Given the description of an element on the screen output the (x, y) to click on. 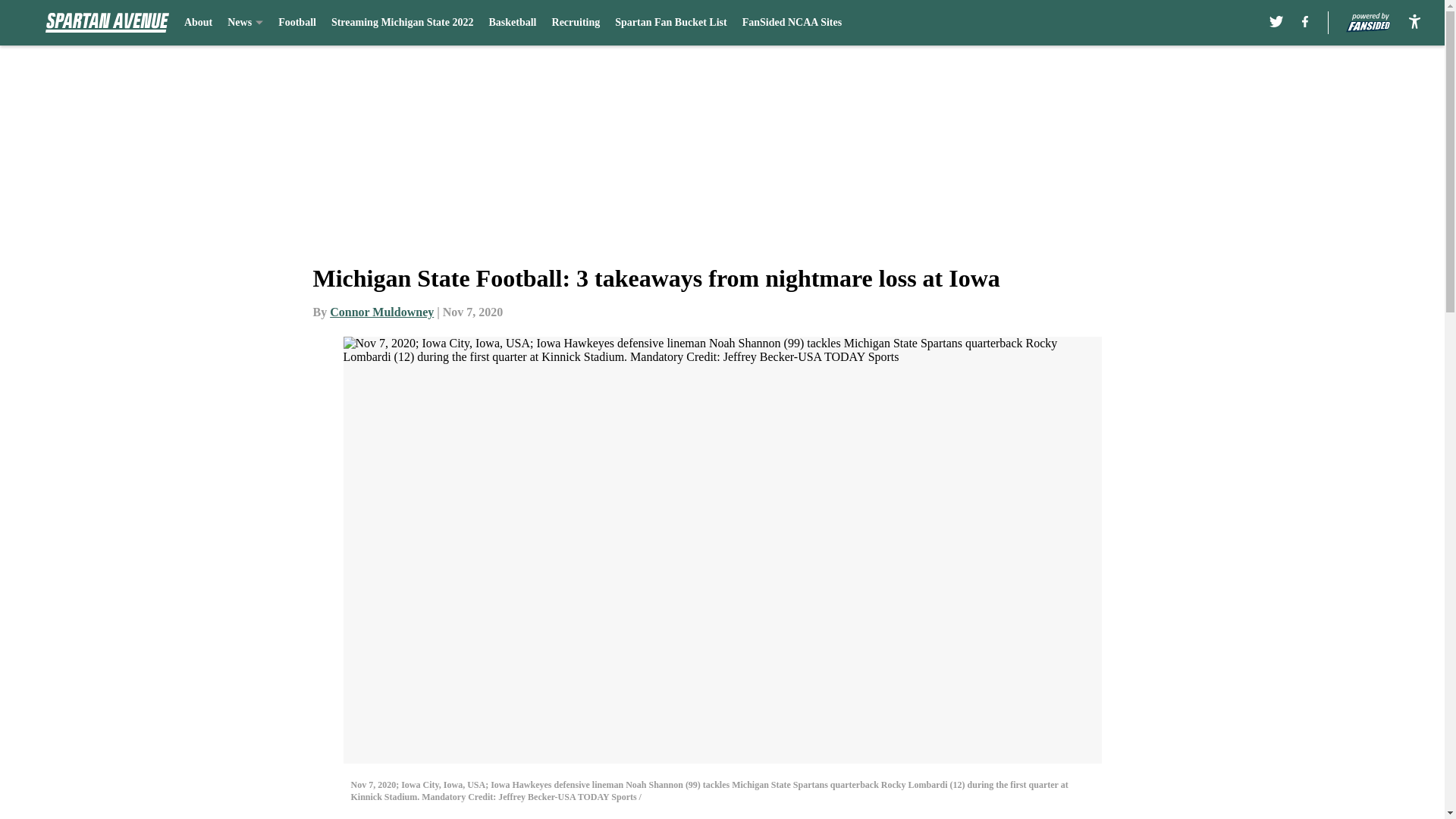
Spartan Fan Bucket List (670, 22)
About (198, 22)
Basketball (511, 22)
FanSided NCAA Sites (791, 22)
Connor Muldowney (381, 311)
Streaming Michigan State 2022 (402, 22)
Football (296, 22)
Recruiting (575, 22)
